Given the description of an element on the screen output the (x, y) to click on. 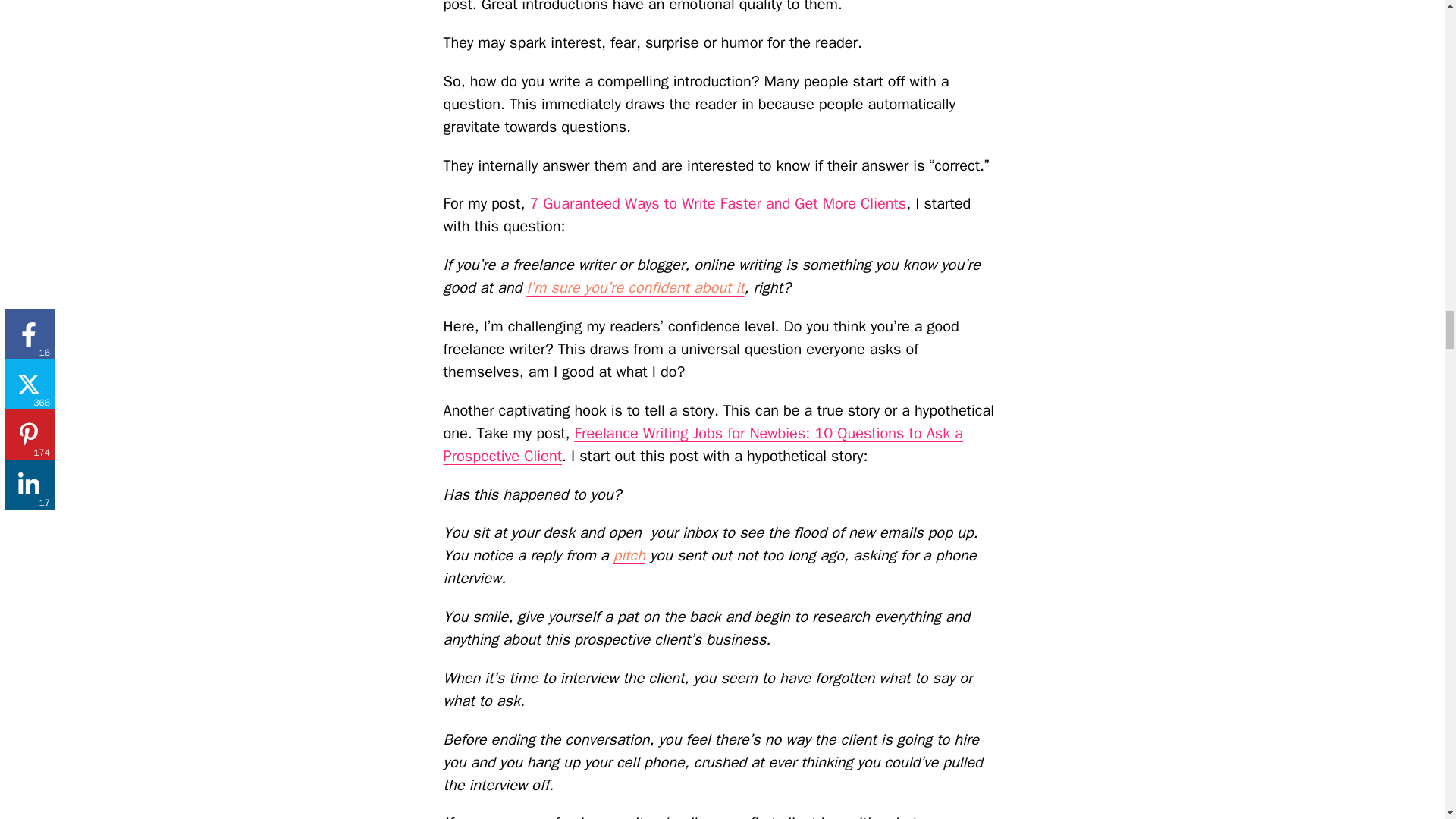
8 Mistakes to Avoid In Your Email When Pitching to Clients (628, 555)
7 Guaranteed Ways to Write Faster and Get More Clients (717, 203)
